Given the description of an element on the screen output the (x, y) to click on. 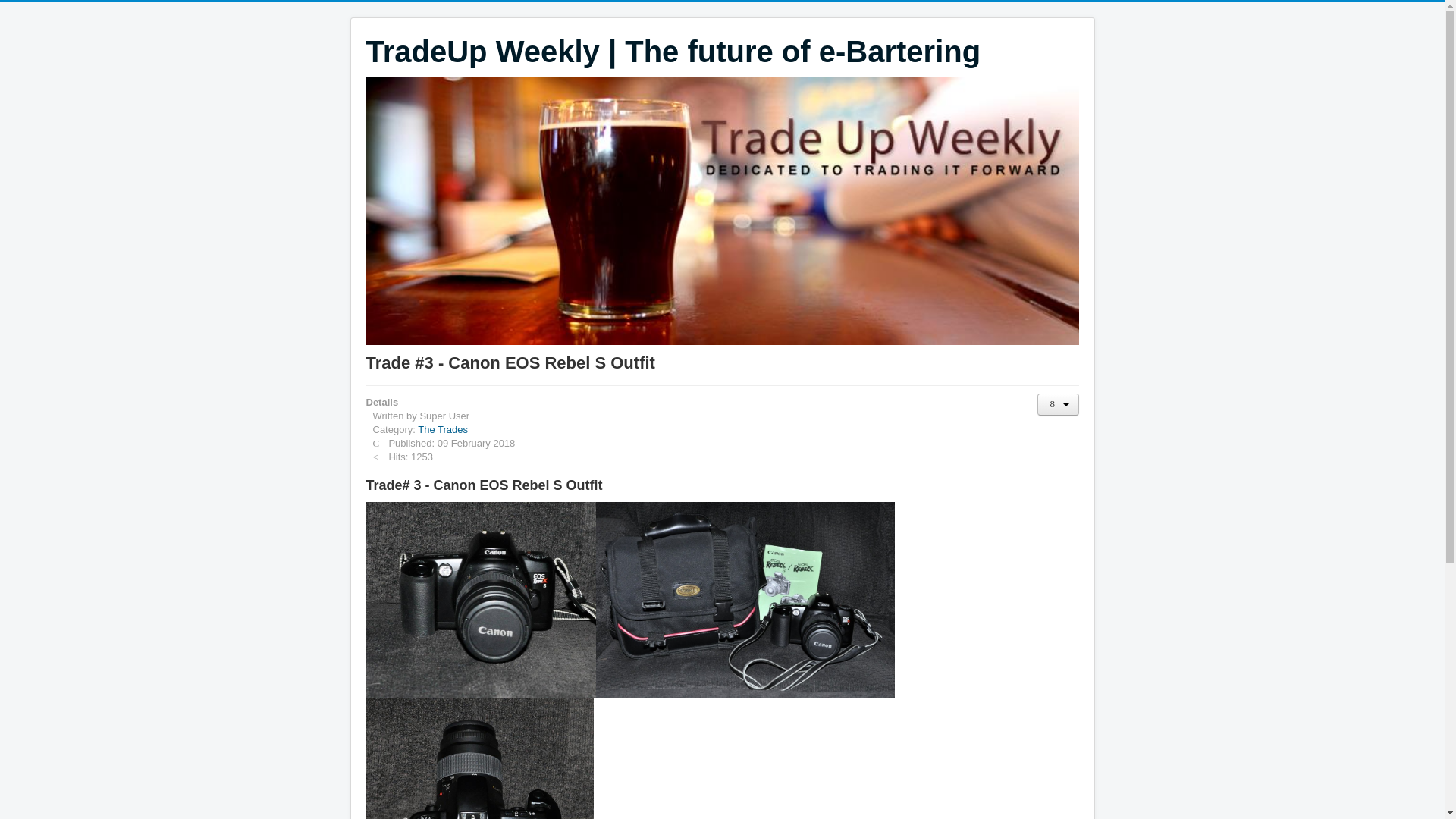
The Trades (442, 428)
